Given the description of an element on the screen output the (x, y) to click on. 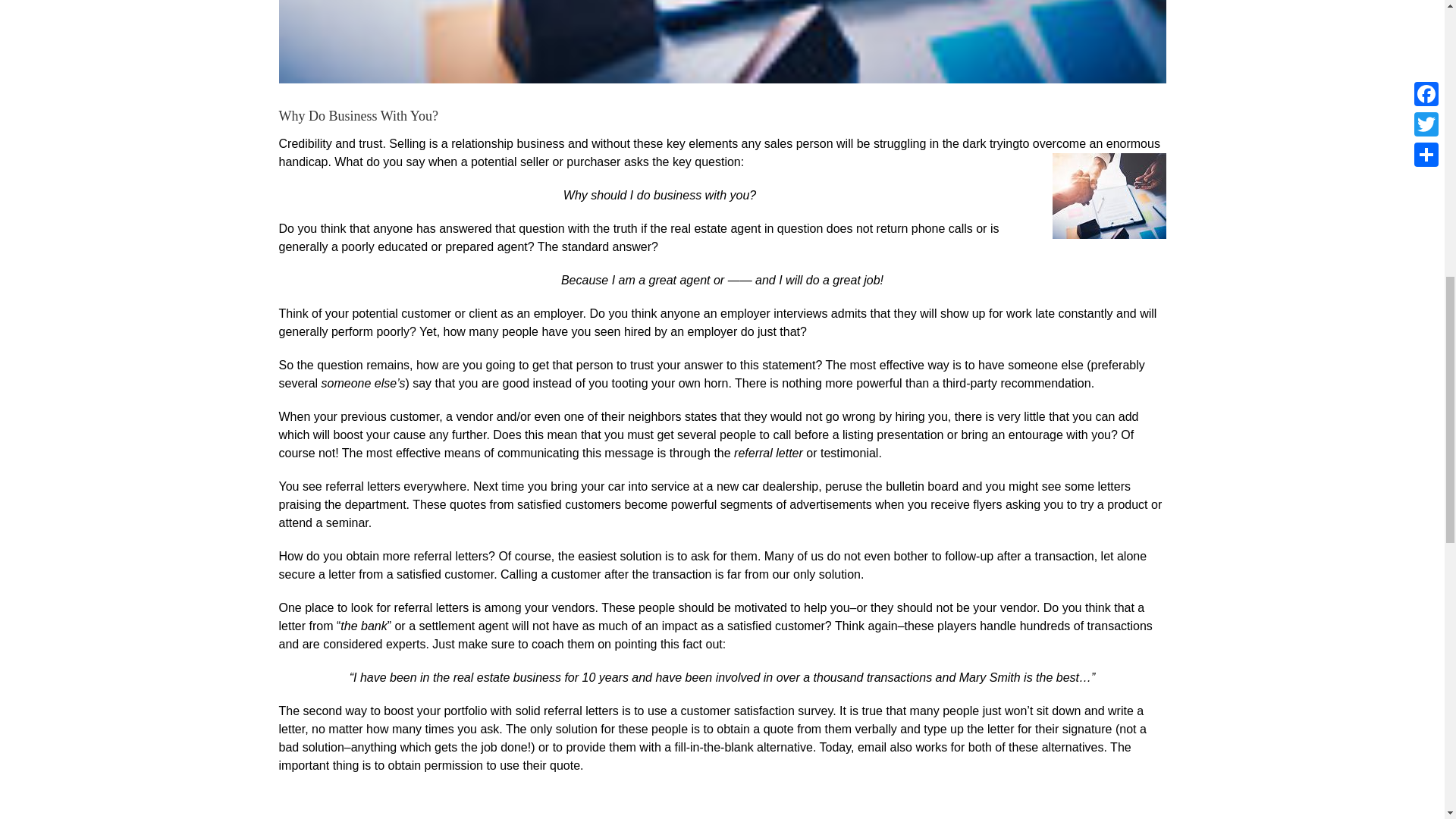
View Larger Image (722, 41)
